Given the description of an element on the screen output the (x, y) to click on. 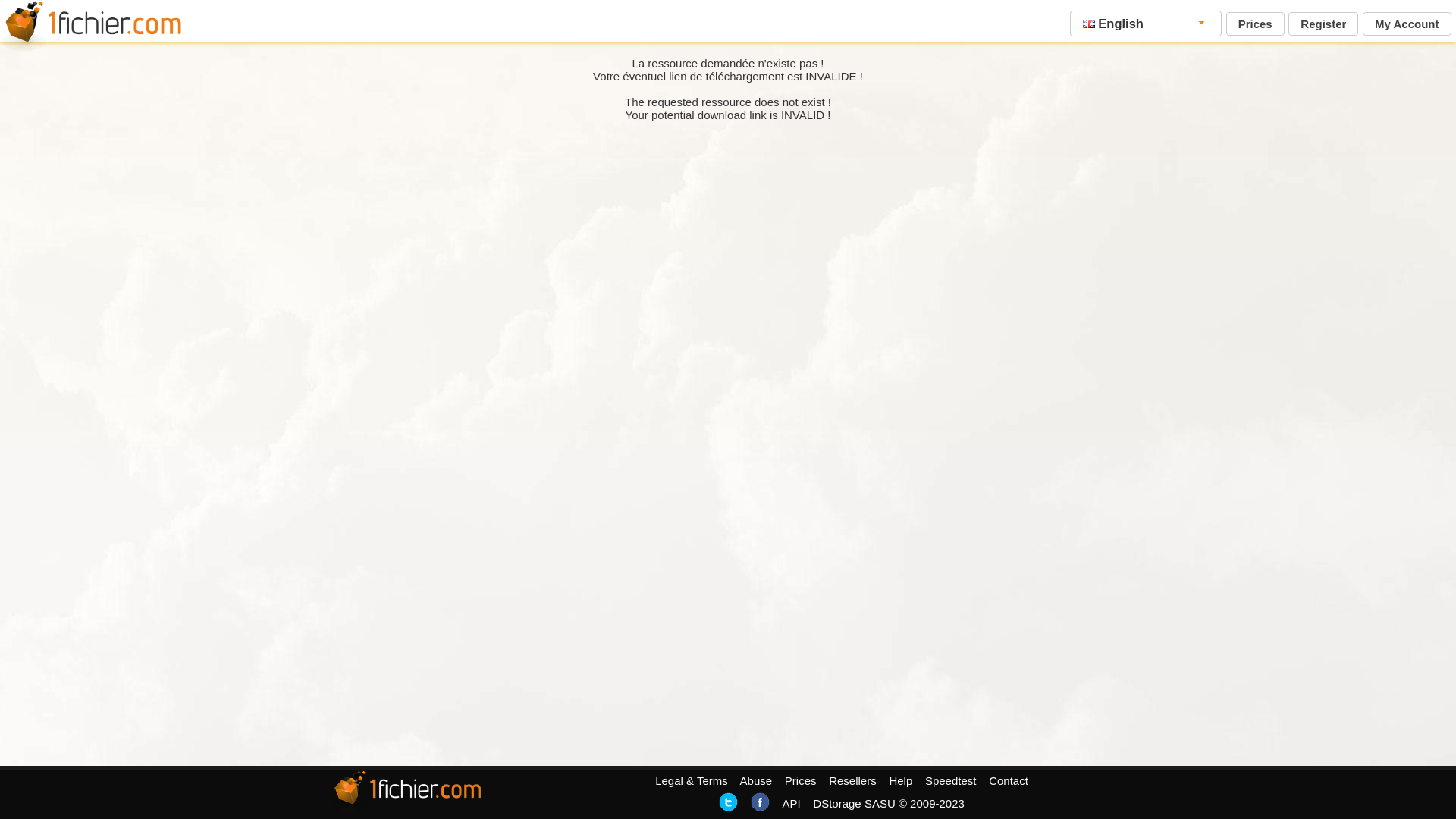
Prices Element type: text (1255, 23)
Speedtest Element type: text (950, 780)
Prices Element type: text (800, 780)
Register Element type: text (1323, 23)
Help Element type: text (900, 780)
Contact Element type: text (1008, 780)
Resellers Element type: text (852, 780)
Legal & Terms Element type: text (691, 780)
API Element type: text (790, 803)
Abuse Element type: text (756, 780)
My Account Element type: text (1406, 23)
